Given the description of an element on the screen output the (x, y) to click on. 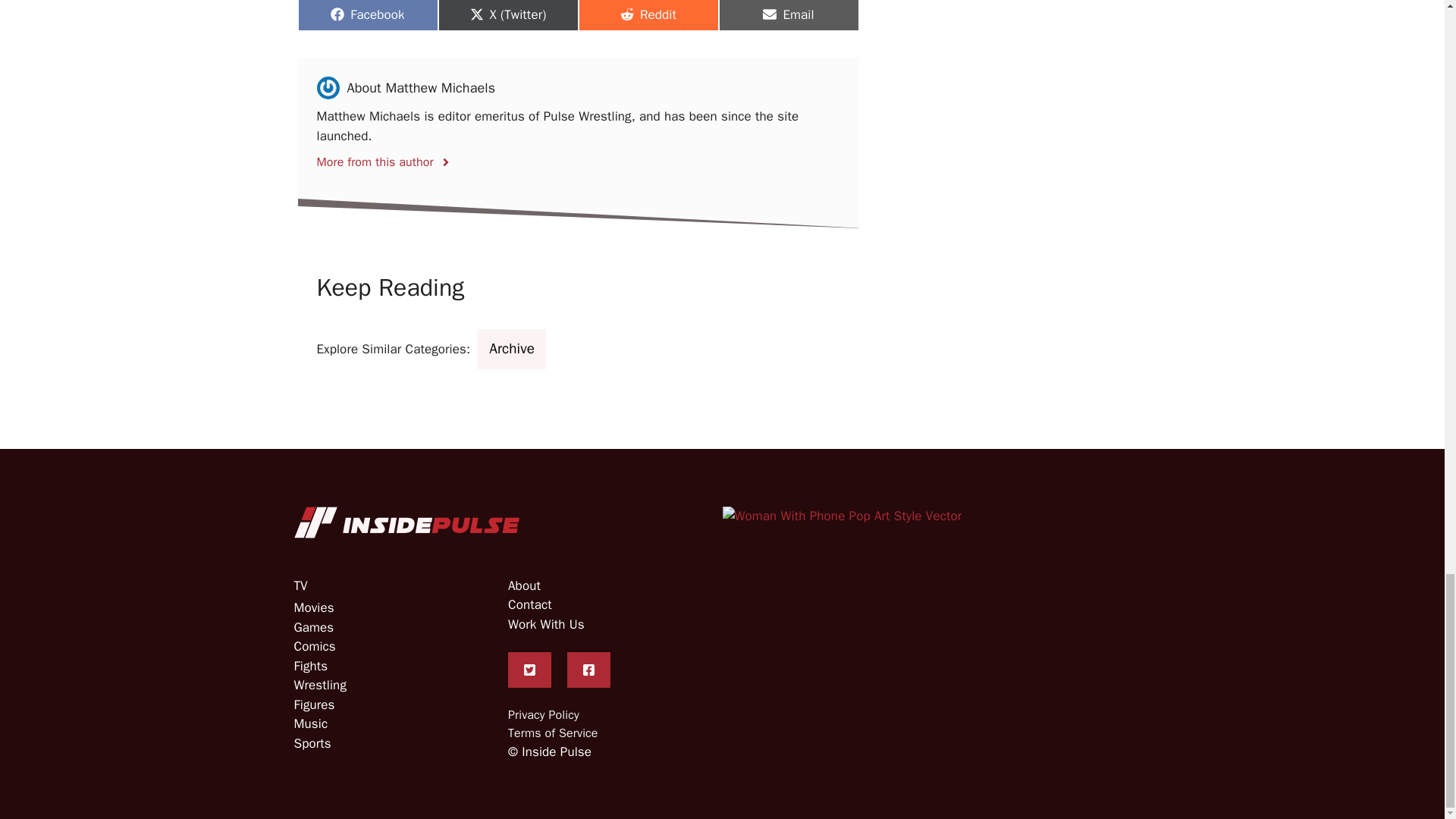
More from this author (384, 158)
Woman with phone pop art style vector (367, 15)
Inside Pulse Reverse Logo A (841, 516)
